Given the description of an element on the screen output the (x, y) to click on. 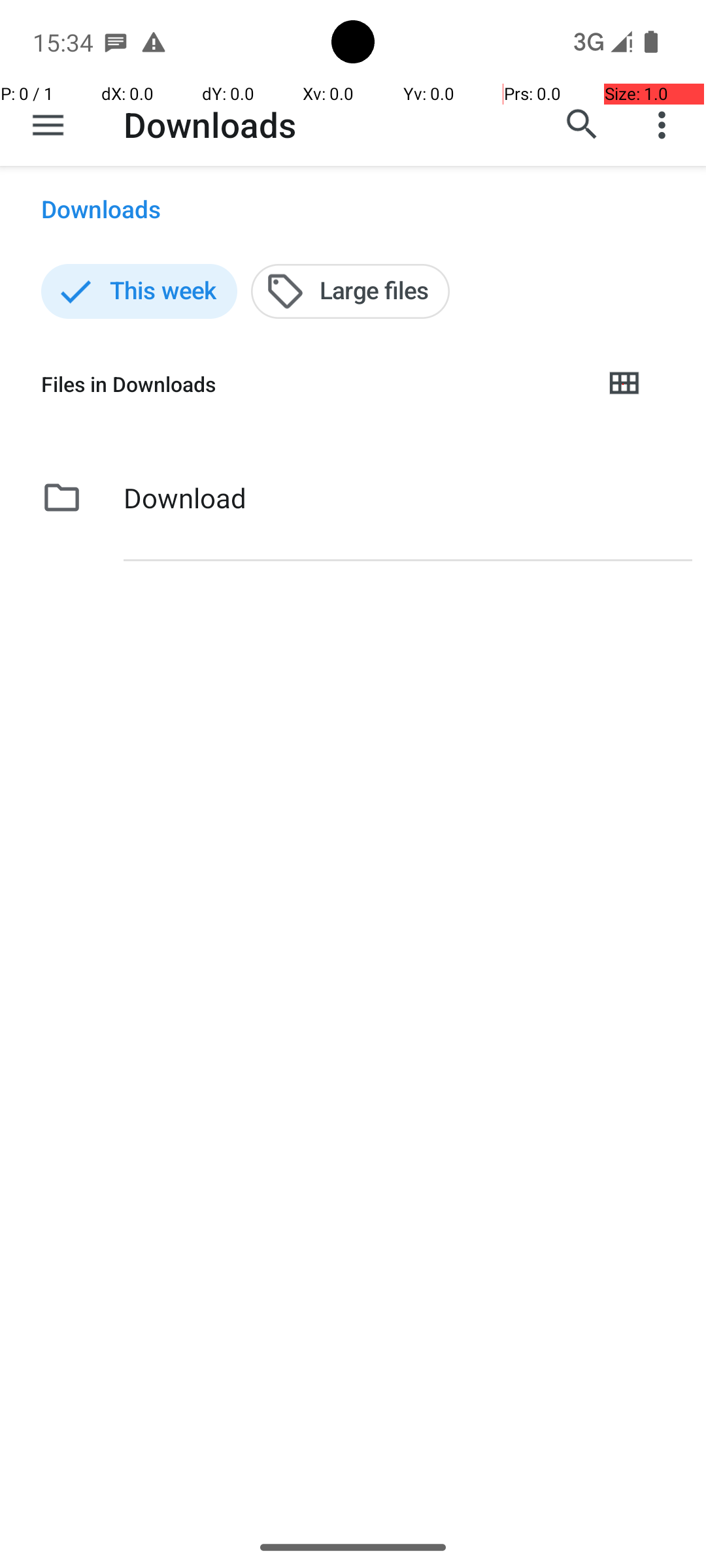
Download Element type: android.widget.TextView (184, 497)
